Given the description of an element on the screen output the (x, y) to click on. 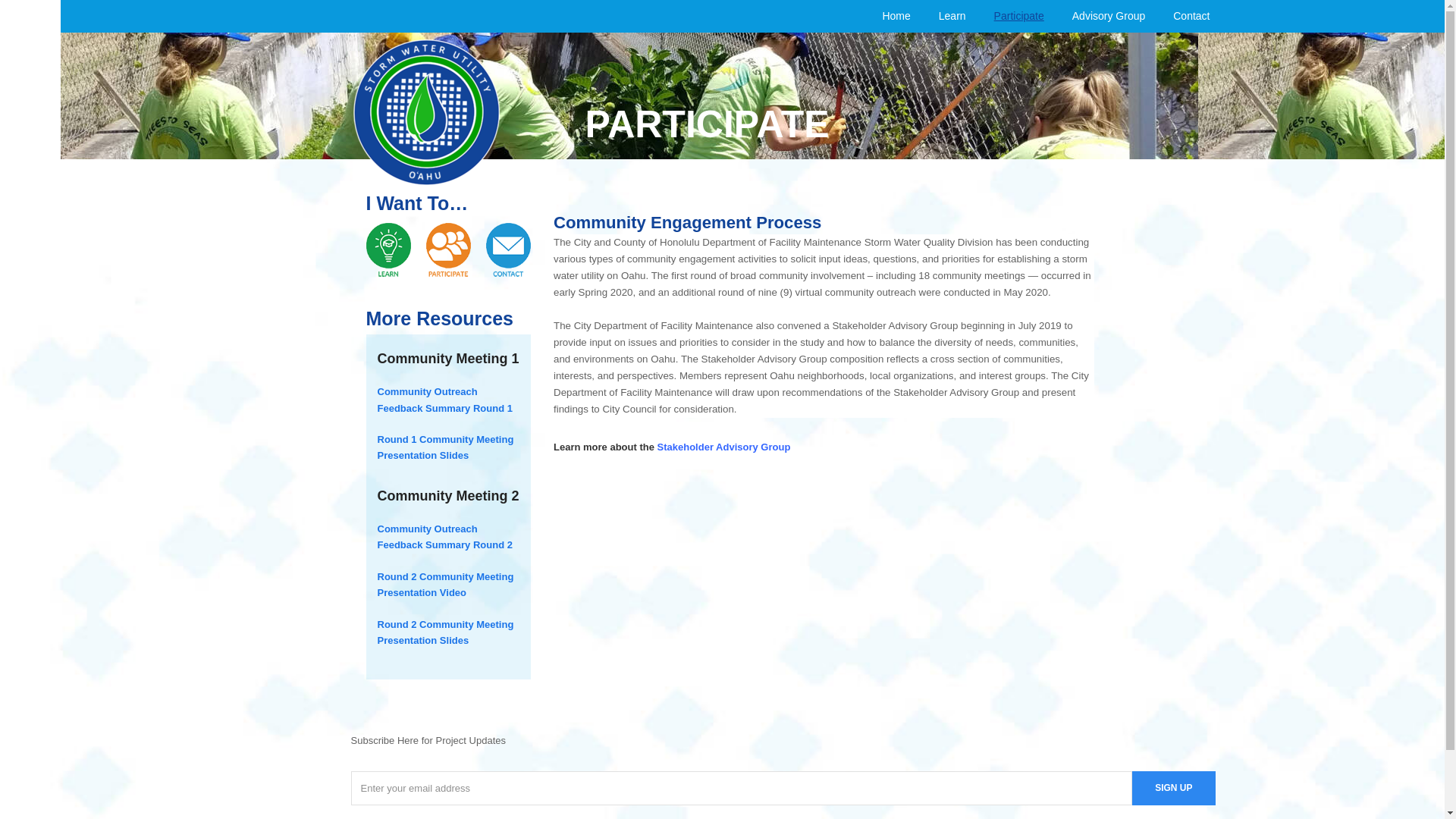
Contact (1191, 16)
Stakeholder Advisory Group (724, 446)
Community Outreach Feedback Summary Round 2 (444, 536)
Participate (1018, 16)
Storm Water Utility, Oahu logo (426, 112)
Community Outreach Feedback Summary Round 1 (444, 399)
Learn (952, 16)
Round 1 Community Meeting Presentation Slides (445, 447)
SIGN UP (1173, 788)
Round 2 Community Meeting Presentation Slides (445, 632)
Advisory Group (1107, 16)
Home (896, 16)
Round 2 Community Meeting Presentation Video (445, 584)
